Given the description of an element on the screen output the (x, y) to click on. 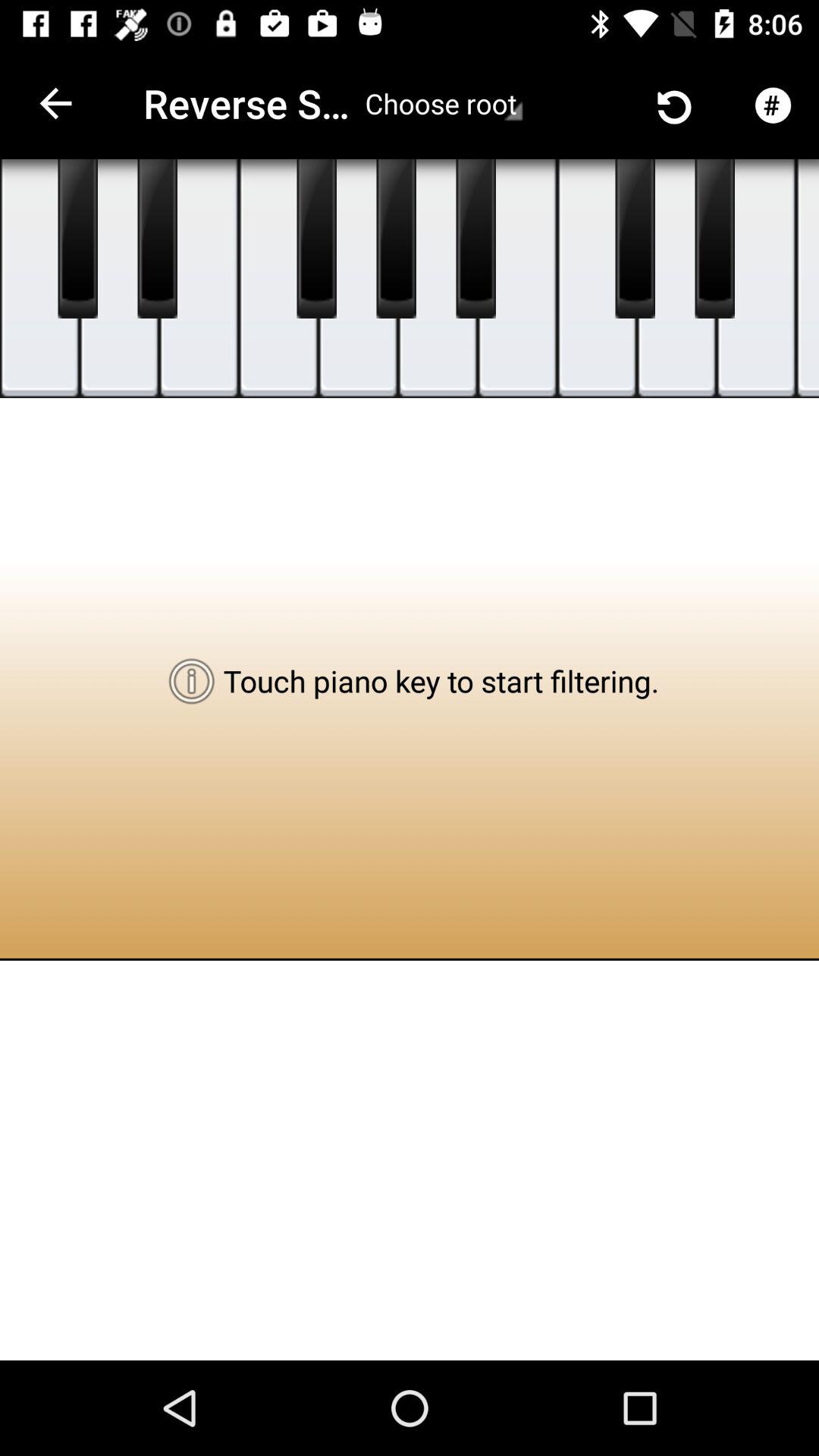
launch item below the choose root (437, 278)
